Given the description of an element on the screen output the (x, y) to click on. 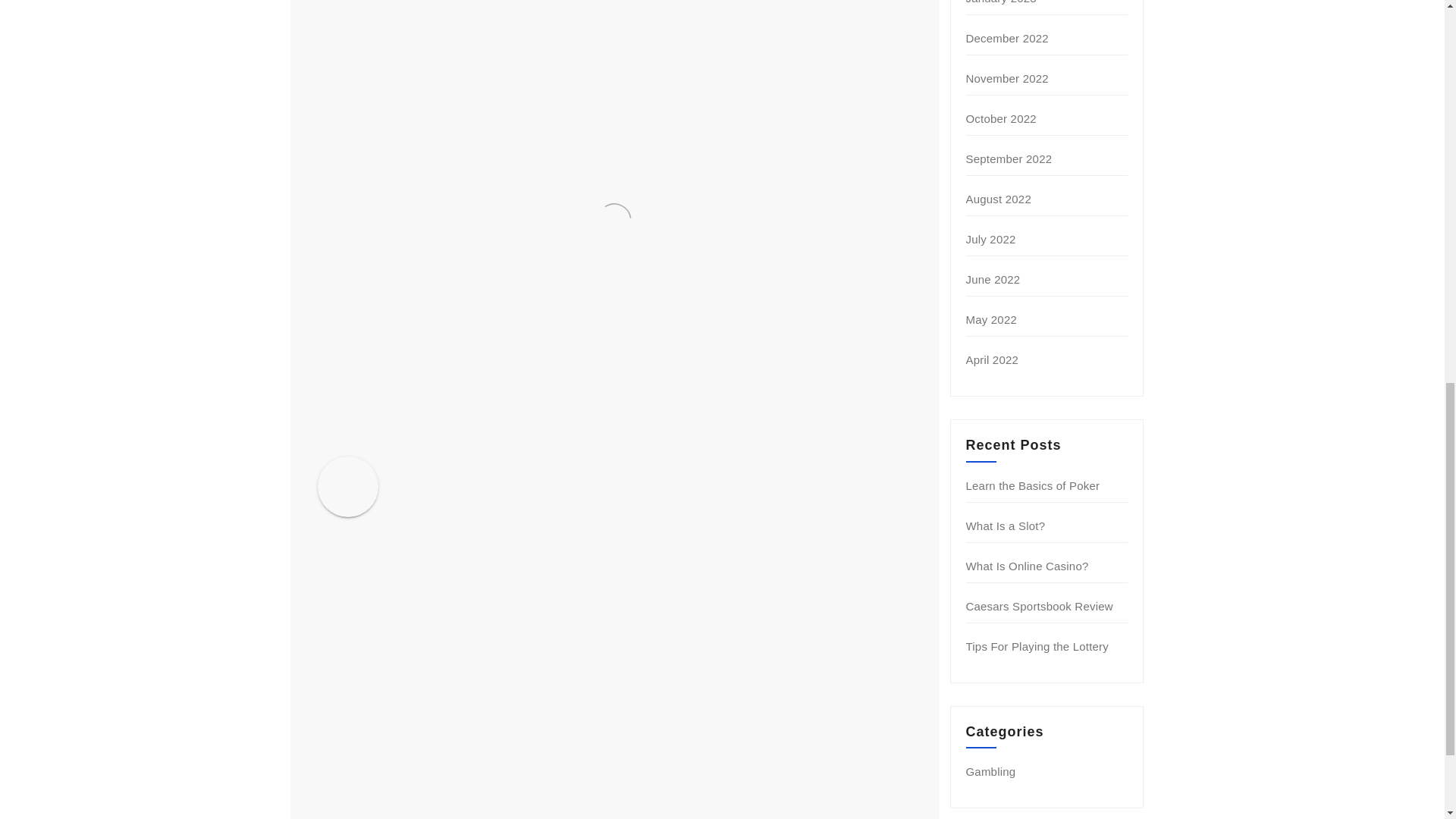
Learn the Basics of Poker (1033, 485)
December 2022 (1007, 38)
What Is Online Casino? (1027, 565)
April 2022 (992, 359)
June 2022 (993, 278)
October 2022 (1001, 118)
July 2022 (991, 238)
January 2023 (1001, 2)
Gambling (991, 771)
Tips For Playing the Lottery (1037, 645)
